Given the description of an element on the screen output the (x, y) to click on. 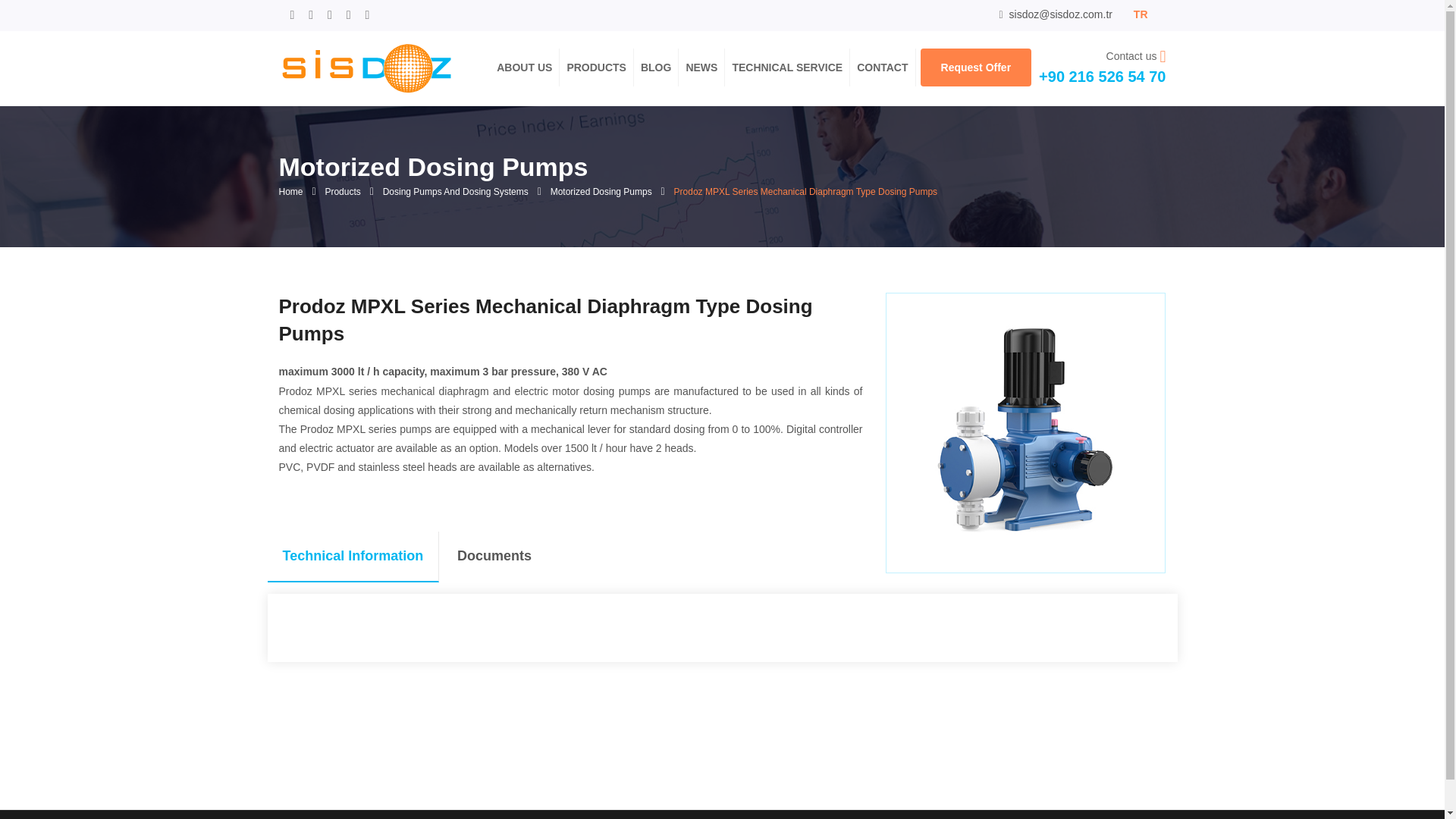
PRODUCTS (596, 67)
PRODUCTS (596, 67)
ABOUT US (523, 67)
ABOUT US (523, 67)
Prodoz MPXL Series Mechanical Diaphragm Type Dosing Pumps (365, 68)
TR (1141, 14)
Prodoz MPXL Series Mechanical Diaphragm Type Dosing Pumps (365, 67)
